Given the description of an element on the screen output the (x, y) to click on. 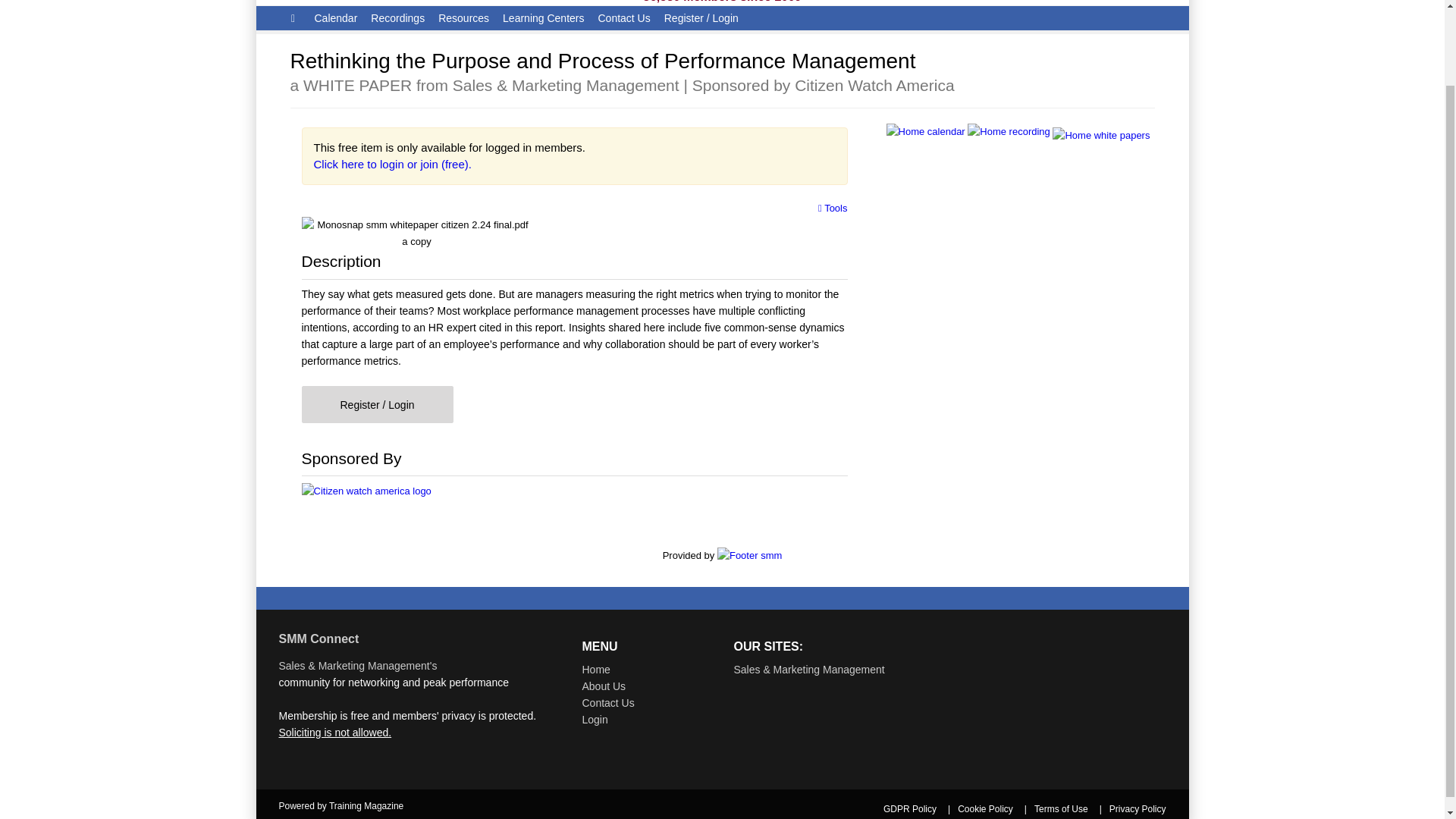
Calendar (335, 17)
Recordings (397, 17)
Tools (832, 207)
Contact Us (623, 17)
Learning Centers (543, 17)
Resources (463, 17)
